Given the description of an element on the screen output the (x, y) to click on. 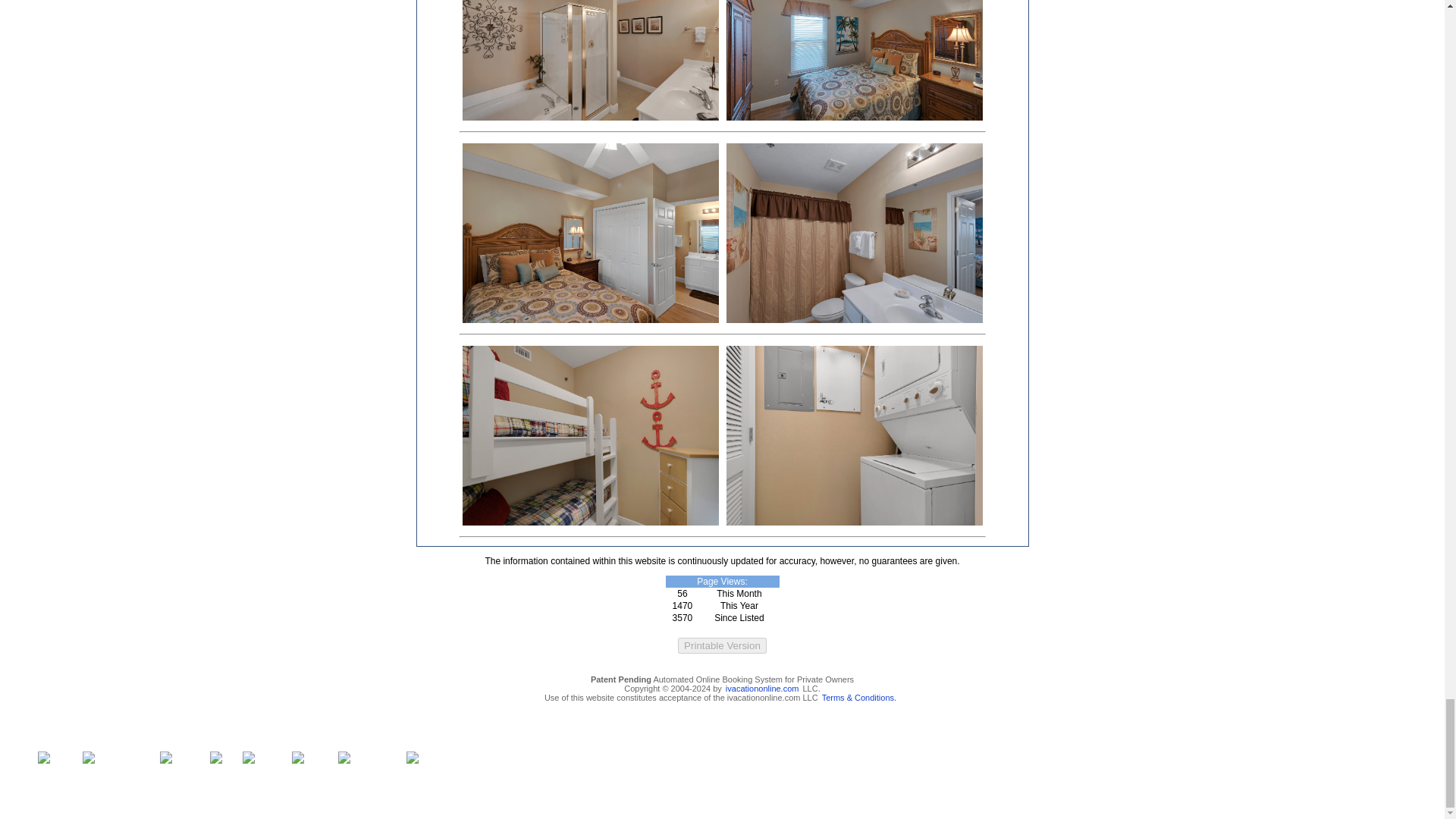
ivacationonline.com (762, 687)
Printable Version (722, 645)
